Given the description of an element on the screen output the (x, y) to click on. 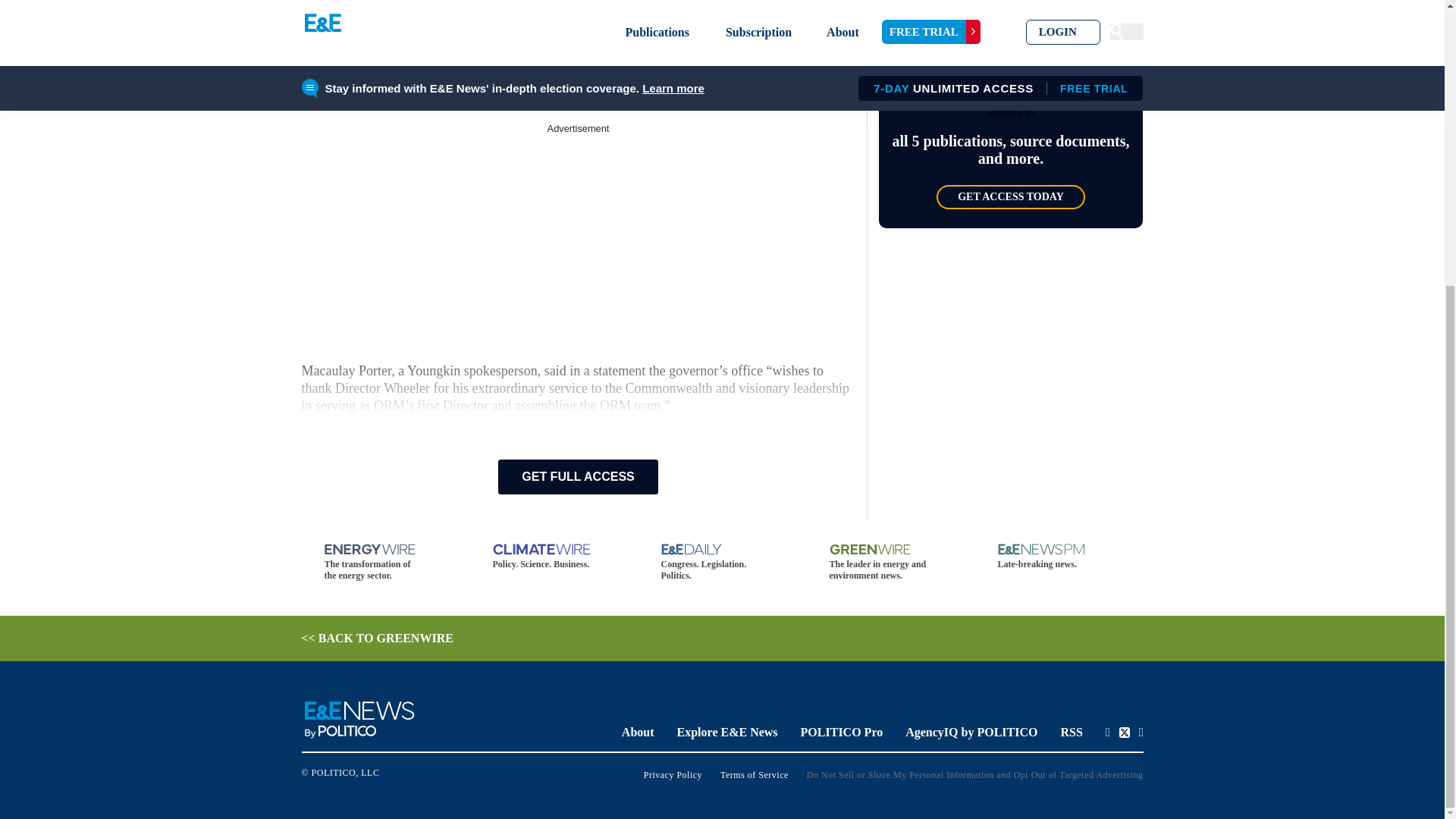
The transformation of the energy sector. (385, 562)
Policy. Science. Business. (554, 556)
POLITICO Pro (841, 731)
3rd party ad content (577, 230)
The leader in energy and environment news. (890, 562)
Late-breaking news. (1058, 556)
Congress. Legislation. Politics. (722, 562)
announced on social media (486, 4)
GET ACCESS TODAY (1010, 197)
AgencyIQ by POLITICO (970, 731)
GET FULL ACCESS (577, 476)
About (637, 731)
